Given the description of an element on the screen output the (x, y) to click on. 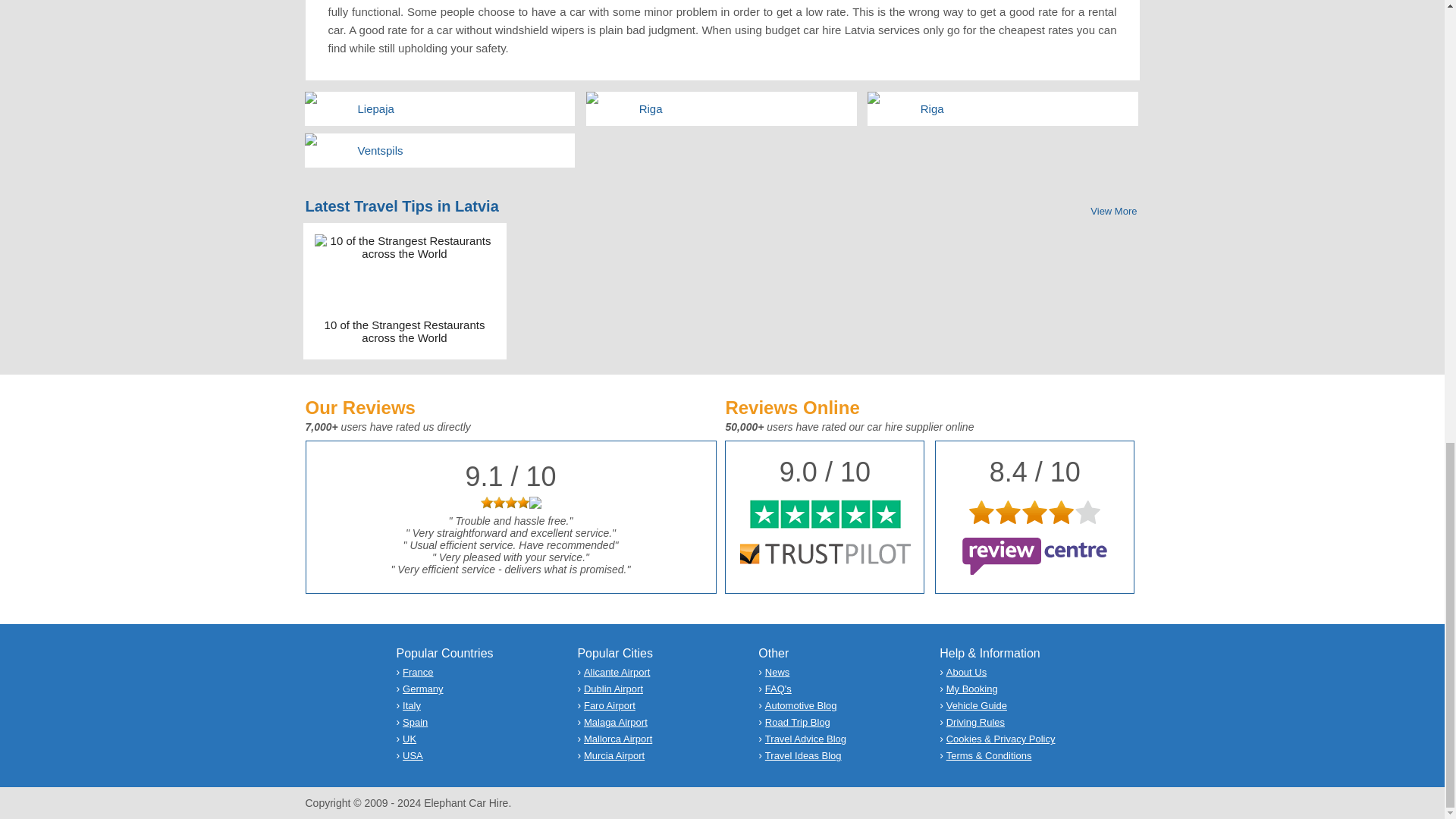
View More (1113, 211)
Liepaja (462, 108)
10 of the Strangest Restaurants across the World (404, 330)
Riga (744, 108)
Riga (1025, 108)
Ventspils (462, 150)
